Given the description of an element on the screen output the (x, y) to click on. 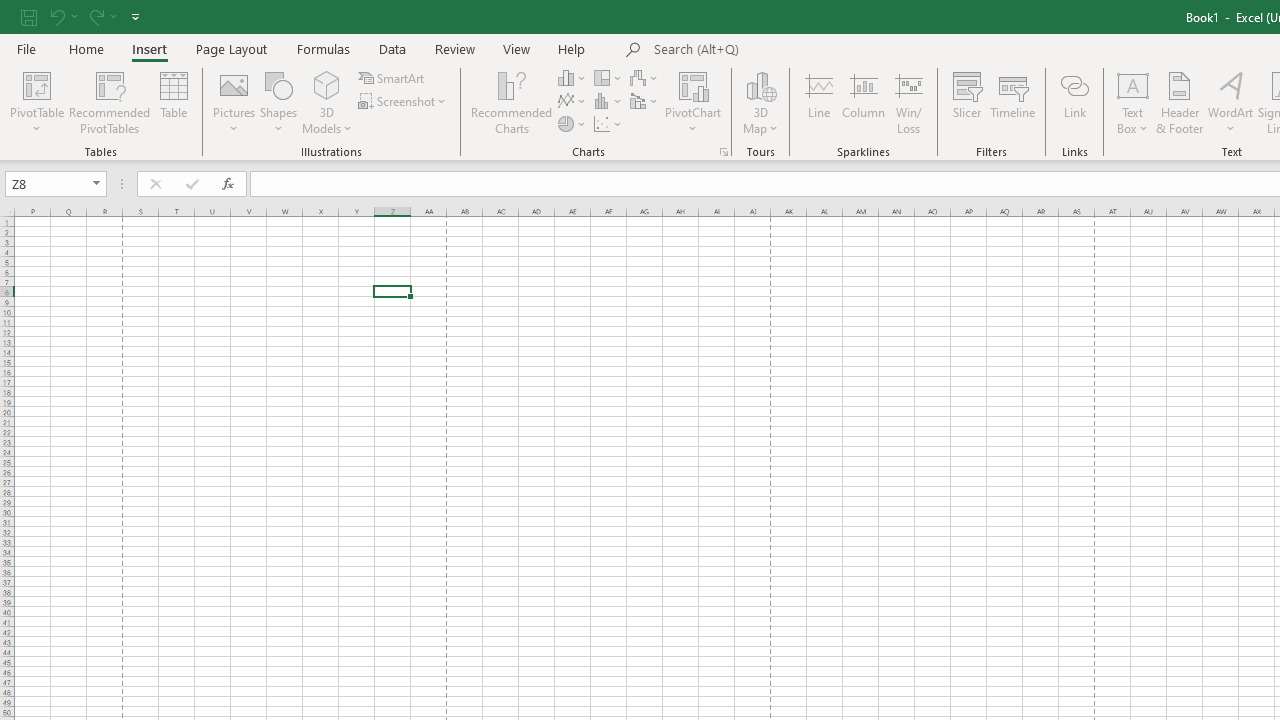
Pictures (234, 102)
Insert Scatter (X, Y) or Bubble Chart (609, 124)
SmartArt... (392, 78)
Line (818, 102)
Recommended Charts (723, 151)
PivotTable (36, 102)
PivotChart (693, 84)
